Given the description of an element on the screen output the (x, y) to click on. 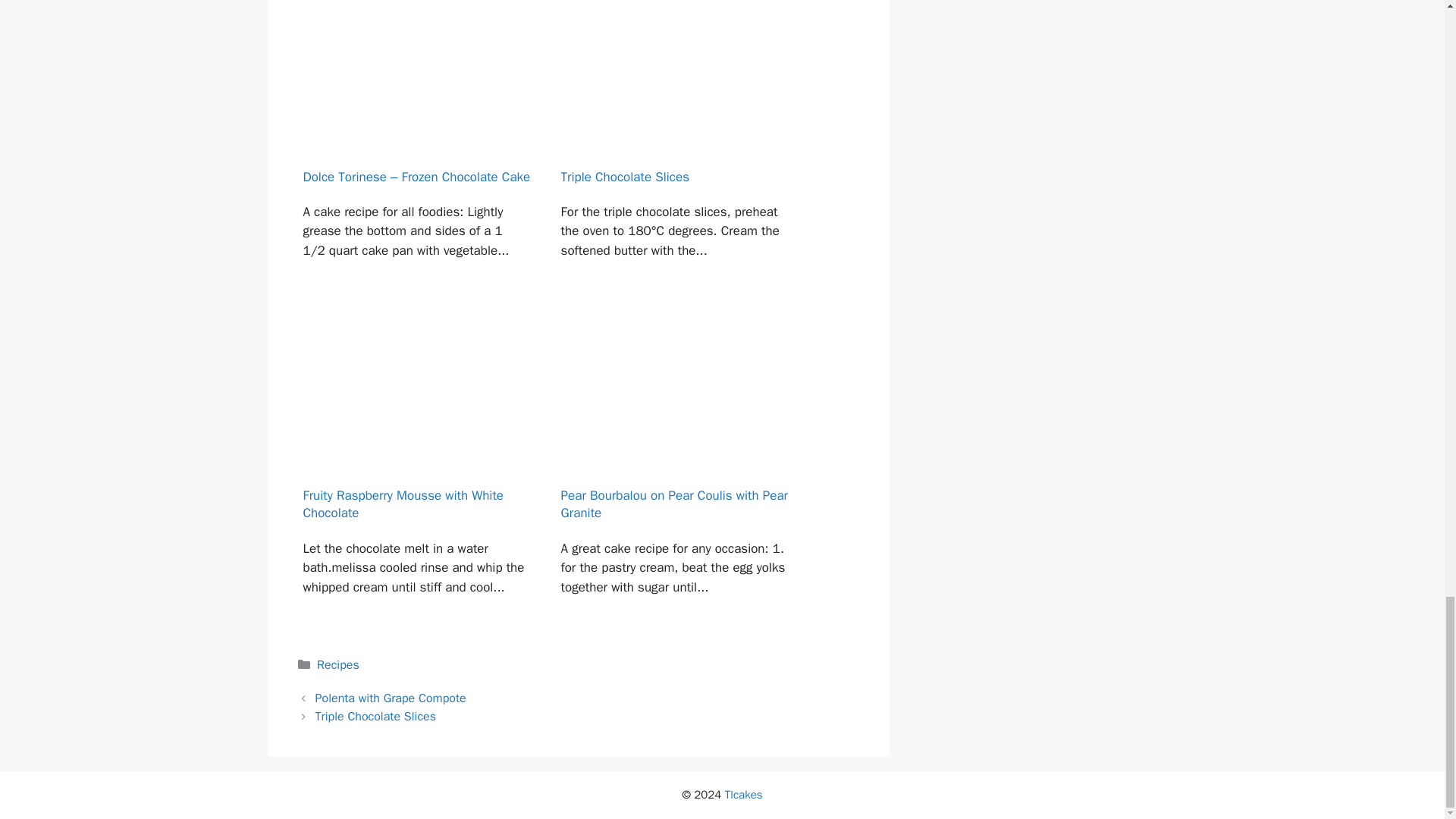
Triple Chocolate Slices (375, 716)
Triple Chocolate Slices (673, 156)
Fruity Raspberry Mousse with White Chocolate (414, 475)
Pear Bourbalou on Pear Coulis with Pear Granite (673, 475)
Recipes (338, 664)
Polenta with Grape Compote (390, 698)
